Given the description of an element on the screen output the (x, y) to click on. 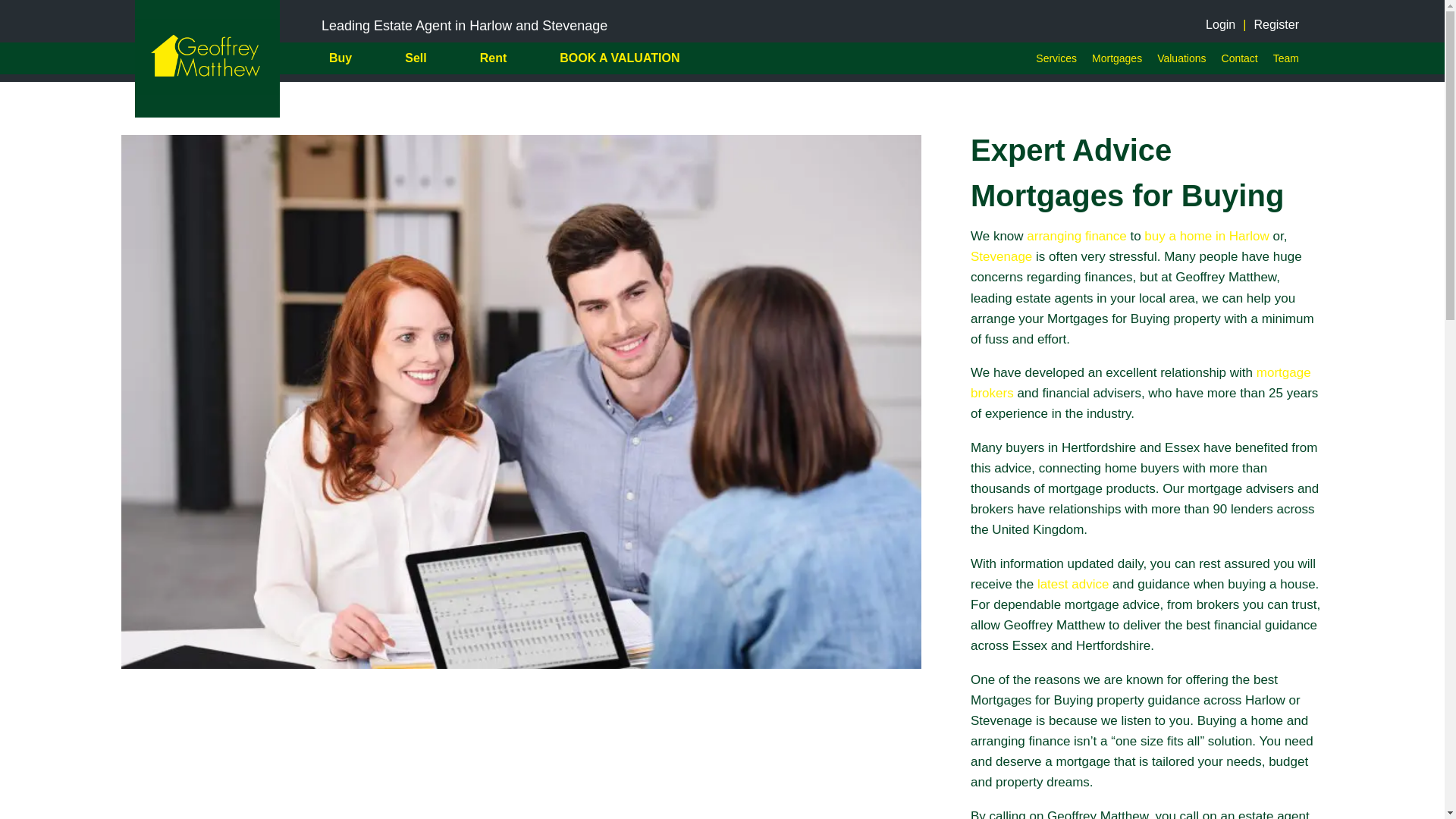
Login (1219, 25)
latest advice (1072, 584)
Buy (340, 58)
Stevenage (1001, 256)
Register (1275, 25)
mortgage brokers (1141, 382)
arranging finance (1075, 236)
buy a home in Harlow (1206, 236)
